Given the description of an element on the screen output the (x, y) to click on. 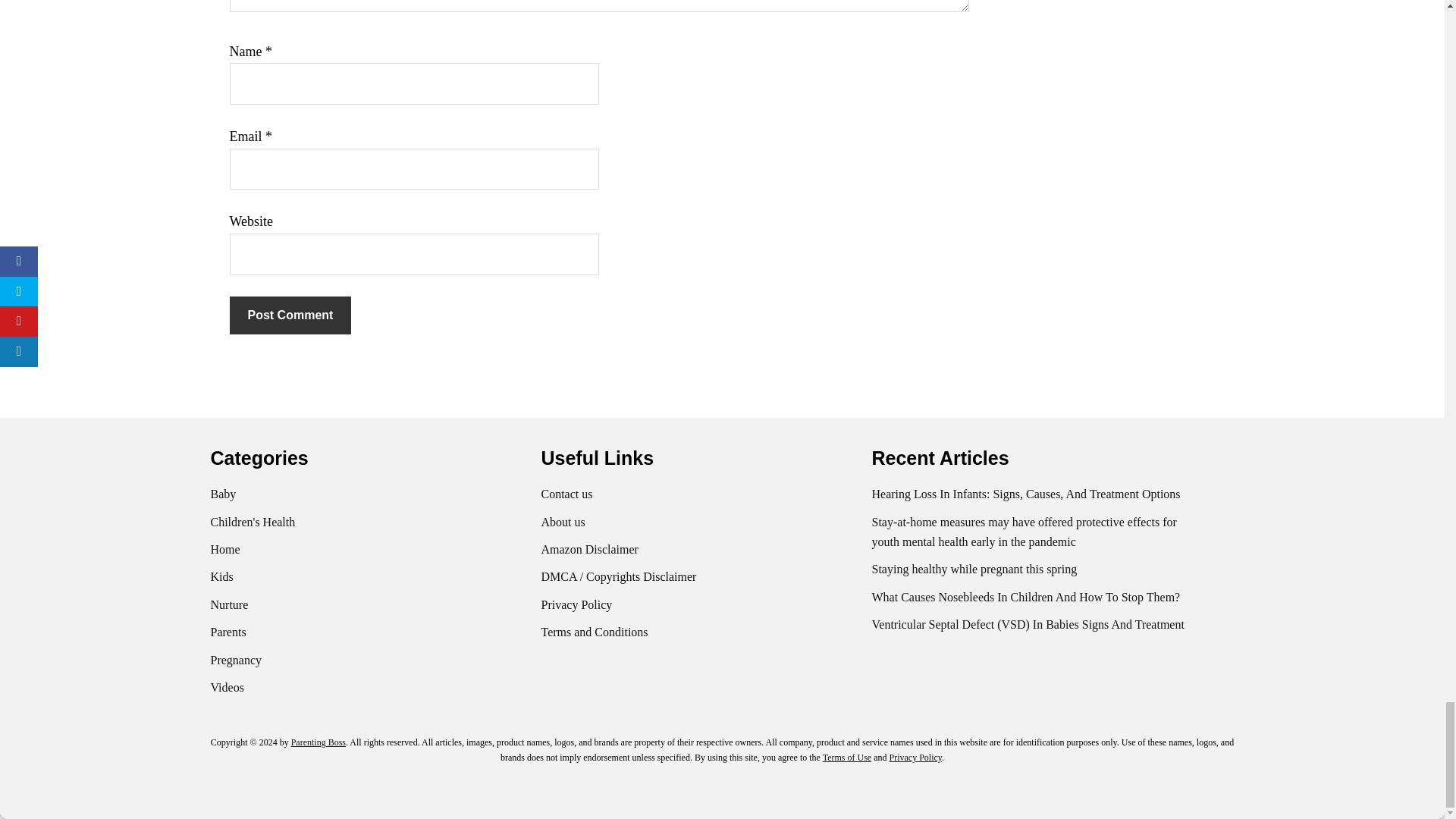
Post Comment (289, 315)
